Given the description of an element on the screen output the (x, y) to click on. 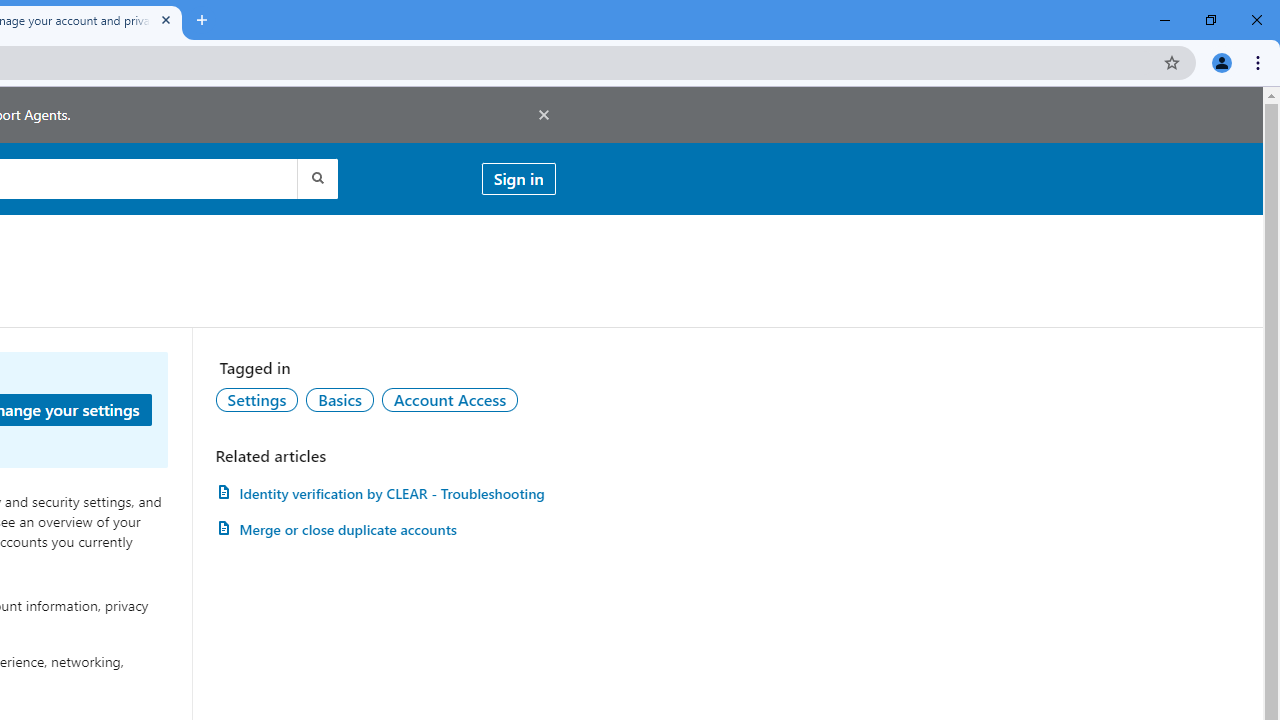
Identity verification by CLEAR - Troubleshooting (385, 493)
AutomationID: topic-link-a149001 (257, 399)
Account Access (449, 399)
Basics (339, 399)
Merge or close duplicate accounts (385, 529)
AutomationID: topic-link-a151002 (449, 399)
Settings (257, 399)
AutomationID: topic-link-a51 (339, 399)
Submit search (316, 178)
